Given the description of an element on the screen output the (x, y) to click on. 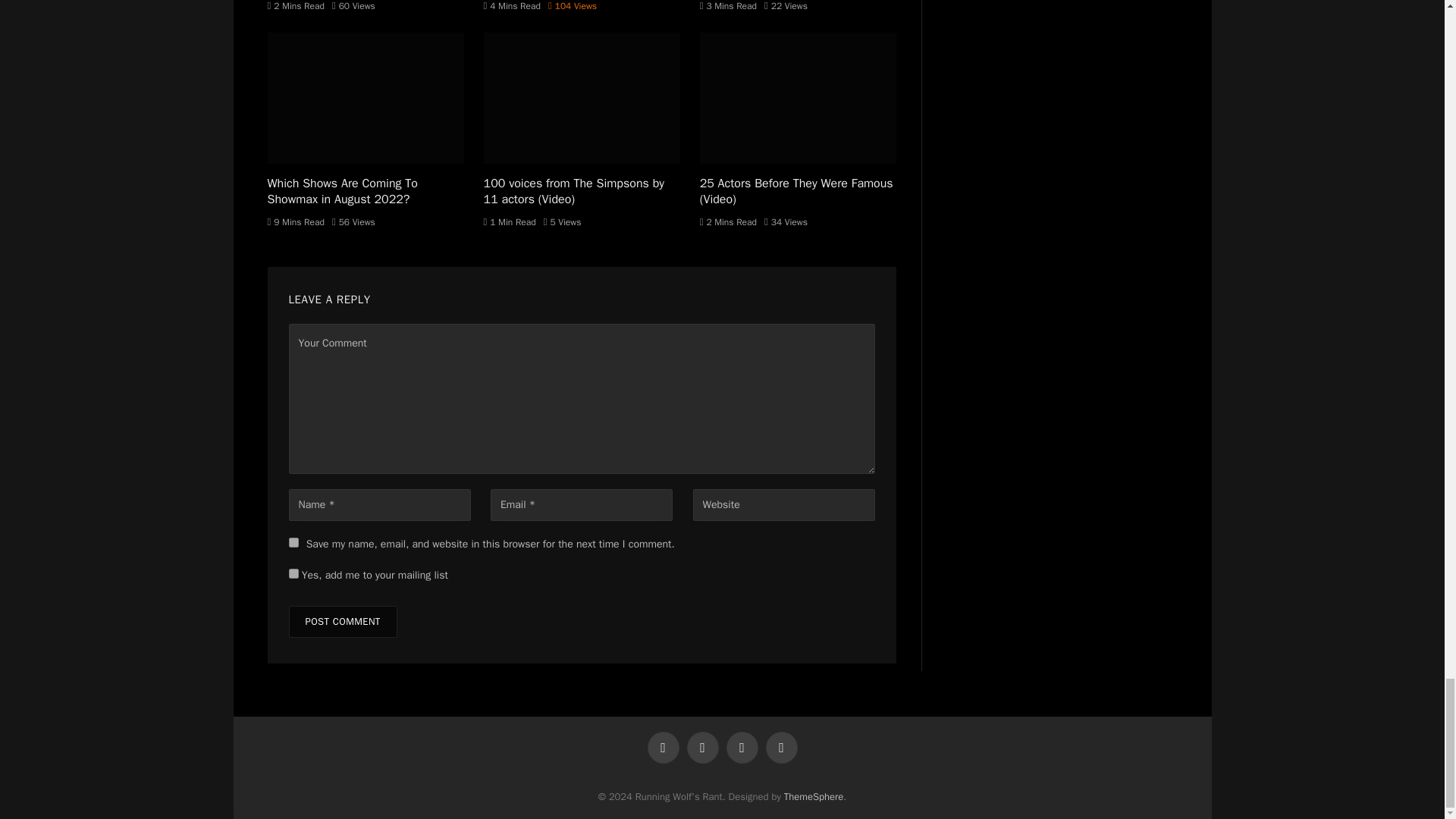
Post Comment (342, 622)
yes (293, 542)
1 (293, 573)
